Given the description of an element on the screen output the (x, y) to click on. 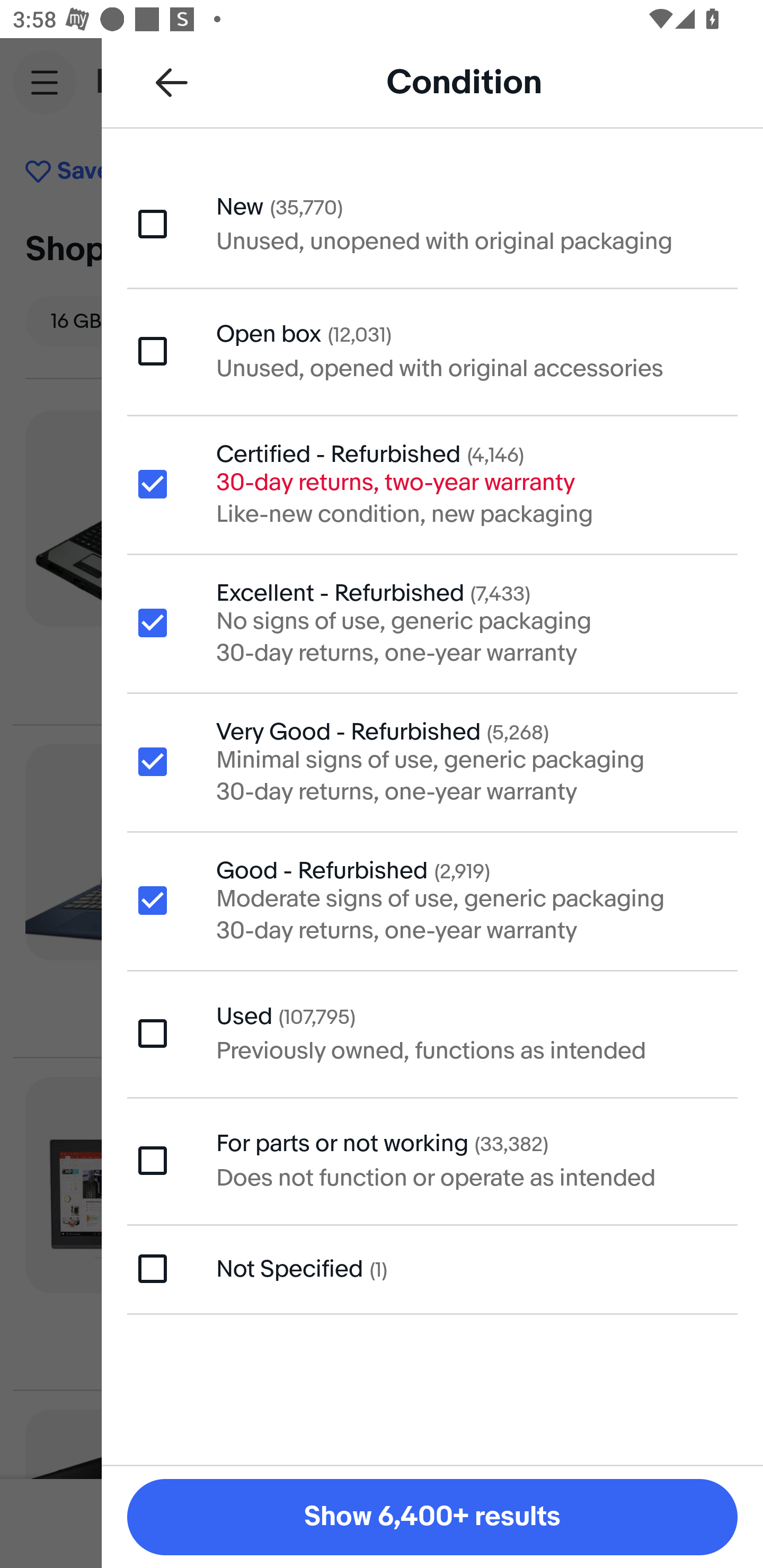
Back to all refinements (171, 81)
Not Specified (1) (432, 1268)
Show 6,400+ results (432, 1516)
